Given the description of an element on the screen output the (x, y) to click on. 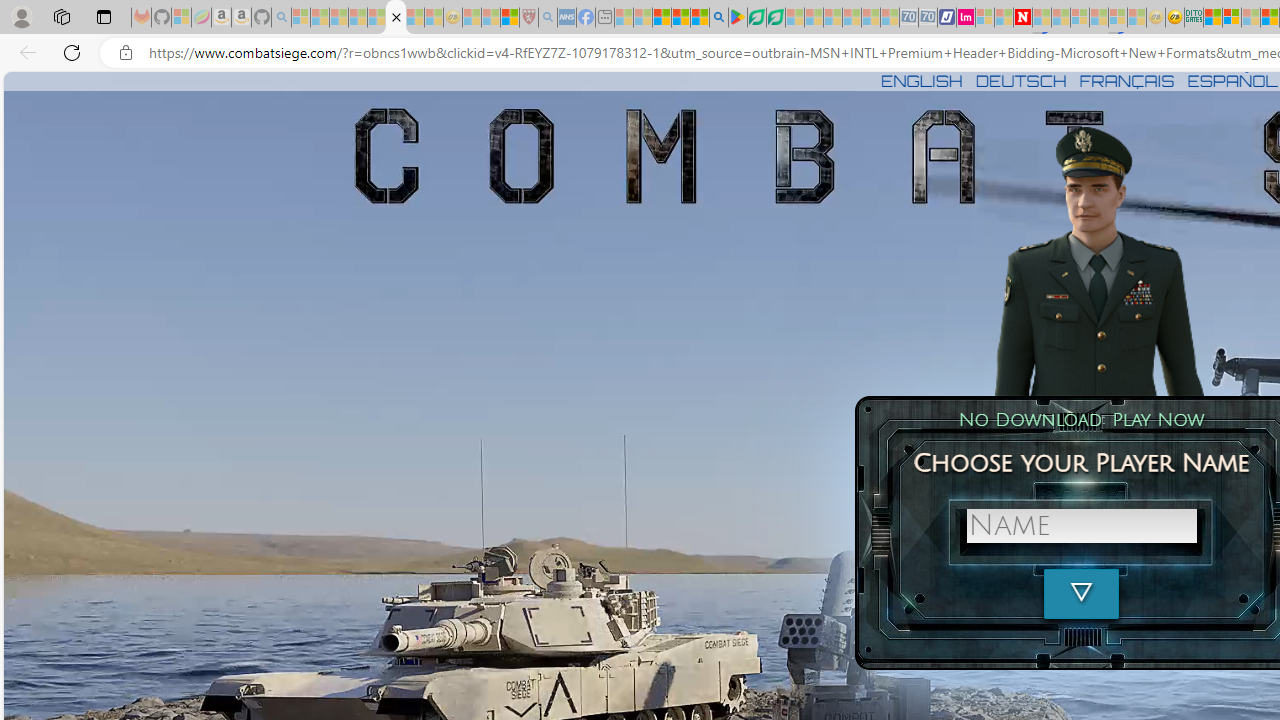
The Weather Channel - MSN - Sleeping (339, 17)
Name (1081, 525)
New Report Confirms 2023 Was Record Hot | Watch - Sleeping (376, 17)
ENGLISH (921, 80)
Latest Politics News & Archive | Newsweek.com (1022, 17)
Local - MSN (509, 17)
